Given the description of an element on the screen output the (x, y) to click on. 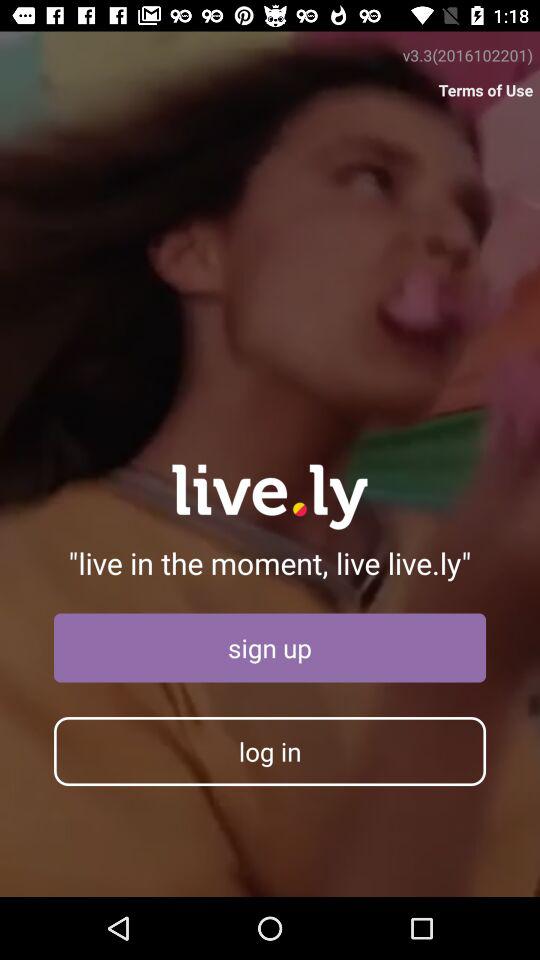
press the app below the sign up app (269, 751)
